Given the description of an element on the screen output the (x, y) to click on. 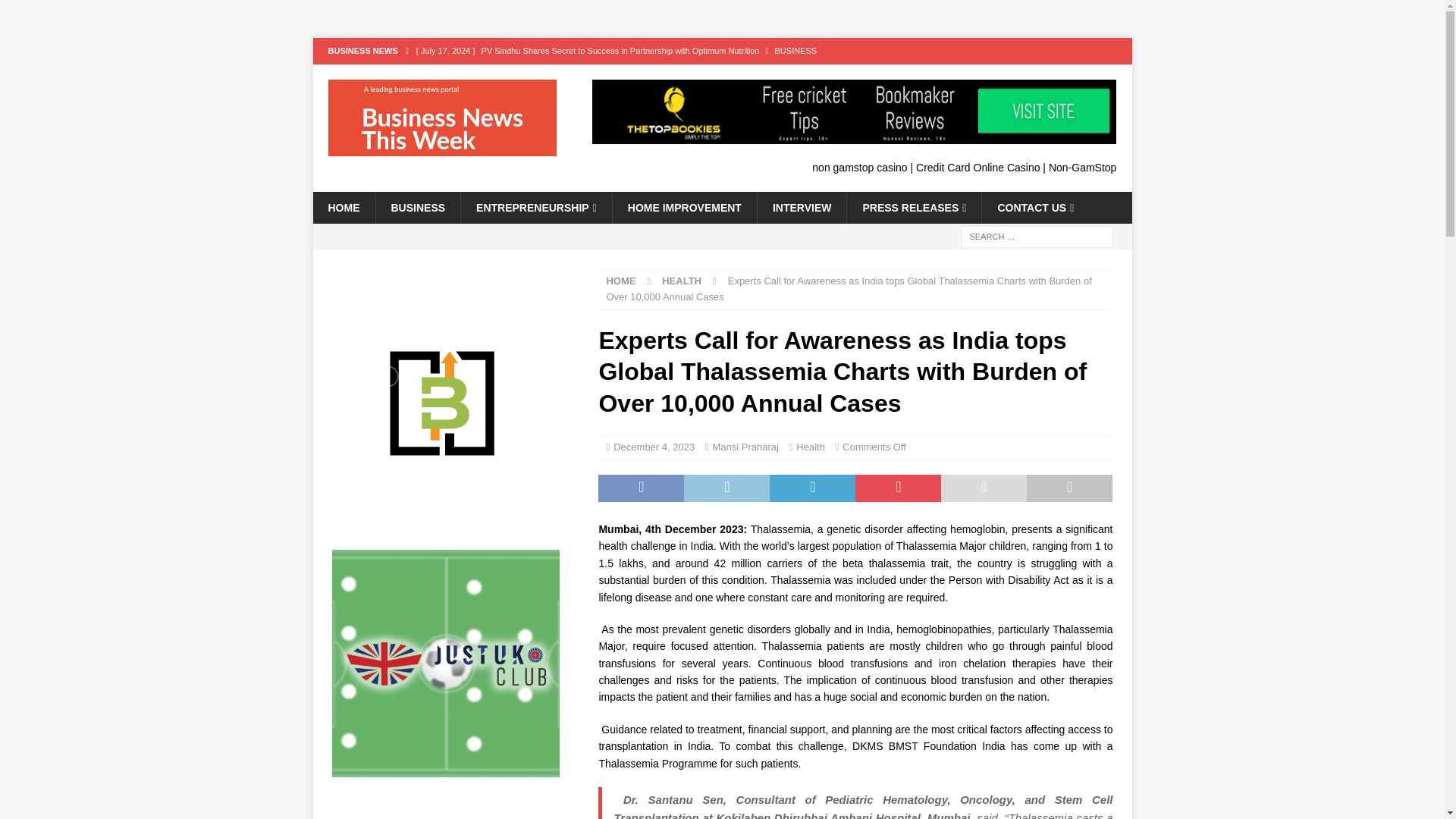
Credit Card Online Casino (977, 167)
HOME (619, 280)
Health (810, 446)
Non-GamStop (1082, 167)
HOME (343, 207)
ENTREPRENEURSHIP (535, 207)
December 4, 2023 (653, 446)
BUSINESS (417, 207)
Mansi Praharaj (745, 446)
HEALTH (681, 280)
PRESS RELEASES (913, 207)
non gamstop casino (859, 167)
CONTACT US (1035, 207)
